Given the description of an element on the screen output the (x, y) to click on. 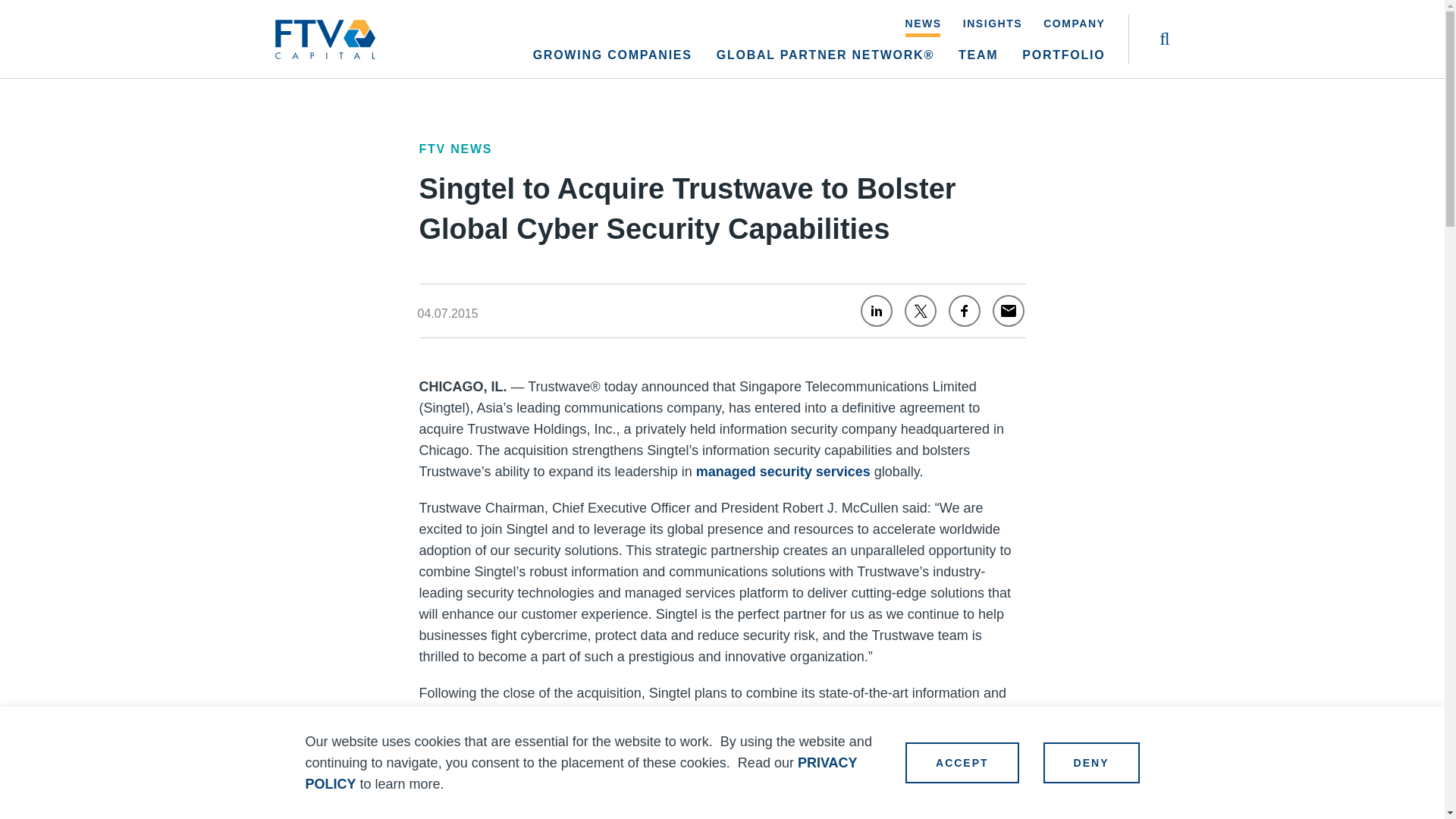
INSIGHTS (992, 27)
COMPANY (1074, 27)
TEAM (977, 63)
PORTFOLIO (1063, 63)
managed security services (782, 471)
ACCEPT (962, 762)
PRIVACY POLICY (580, 773)
GROWING COMPANIES (612, 63)
FTV Management Company, L.P. (325, 29)
NEWS (923, 27)
